Given the description of an element on the screen output the (x, y) to click on. 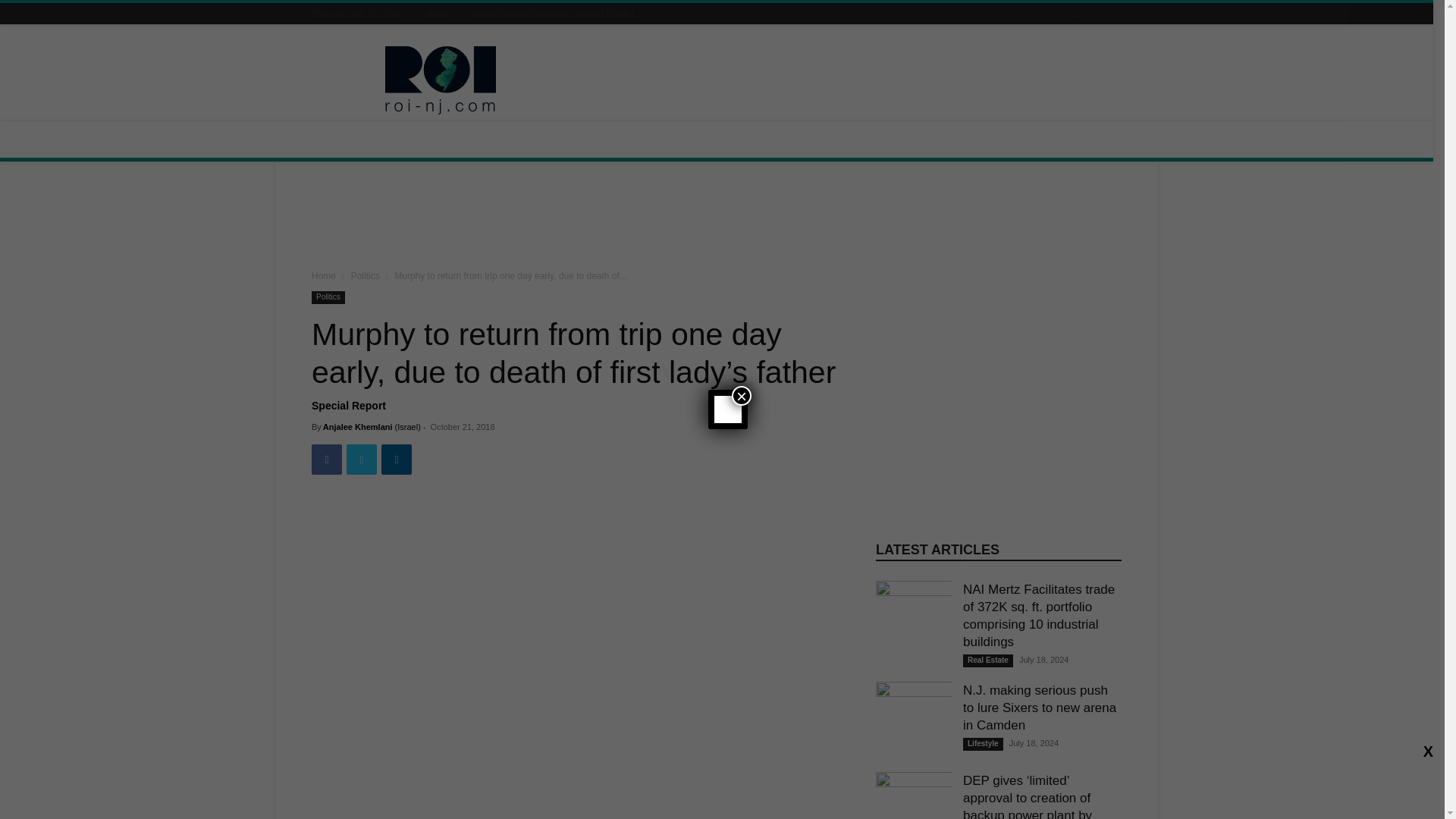
Twitter (361, 459)
Facebook (326, 459)
Linkedin (396, 459)
View all posts in Politics (365, 276)
3rd party ad content (845, 79)
3rd party ad content (716, 218)
